Given the description of an element on the screen output the (x, y) to click on. 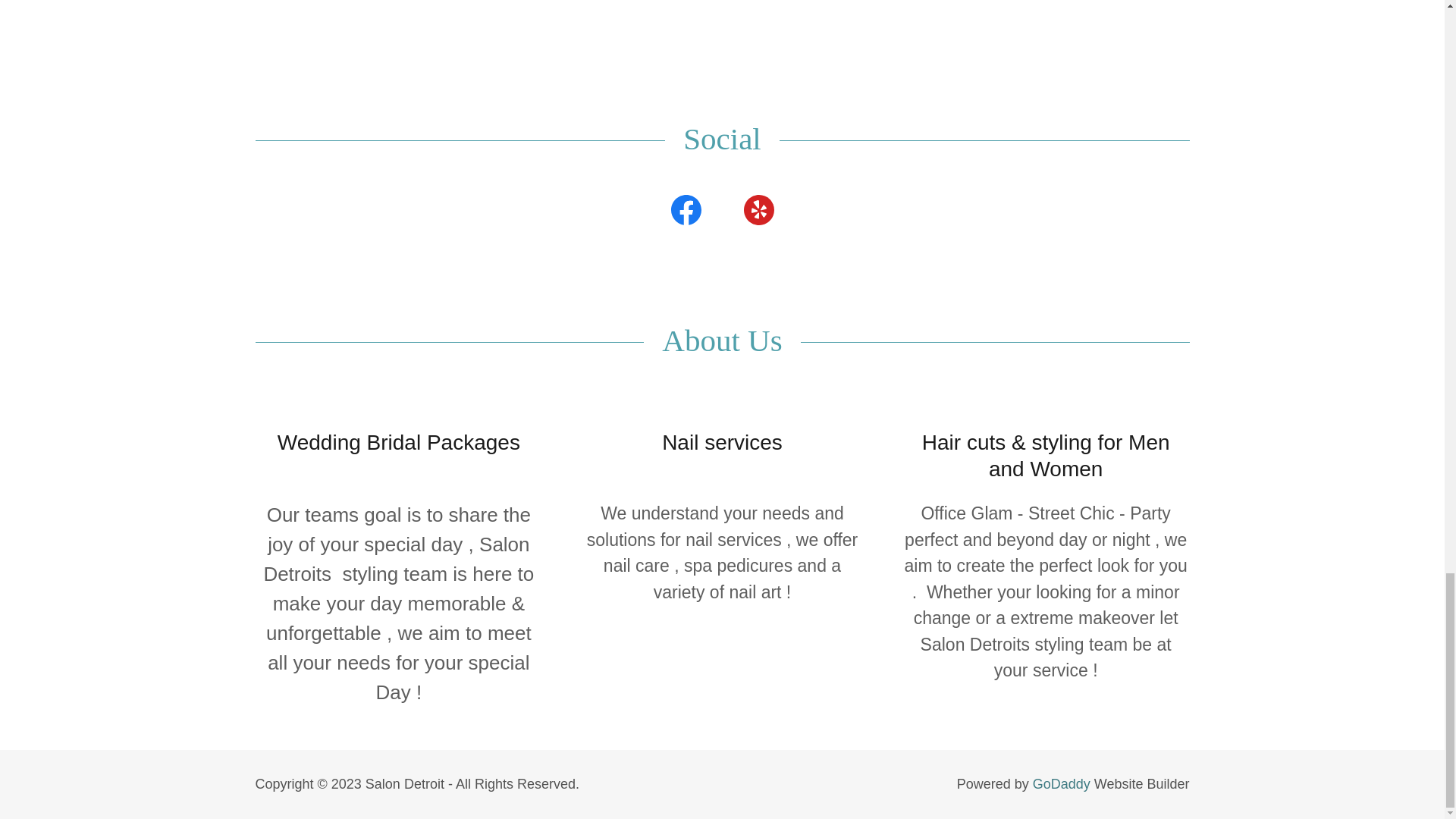
GoDaddy (1061, 783)
